Given the description of an element on the screen output the (x, y) to click on. 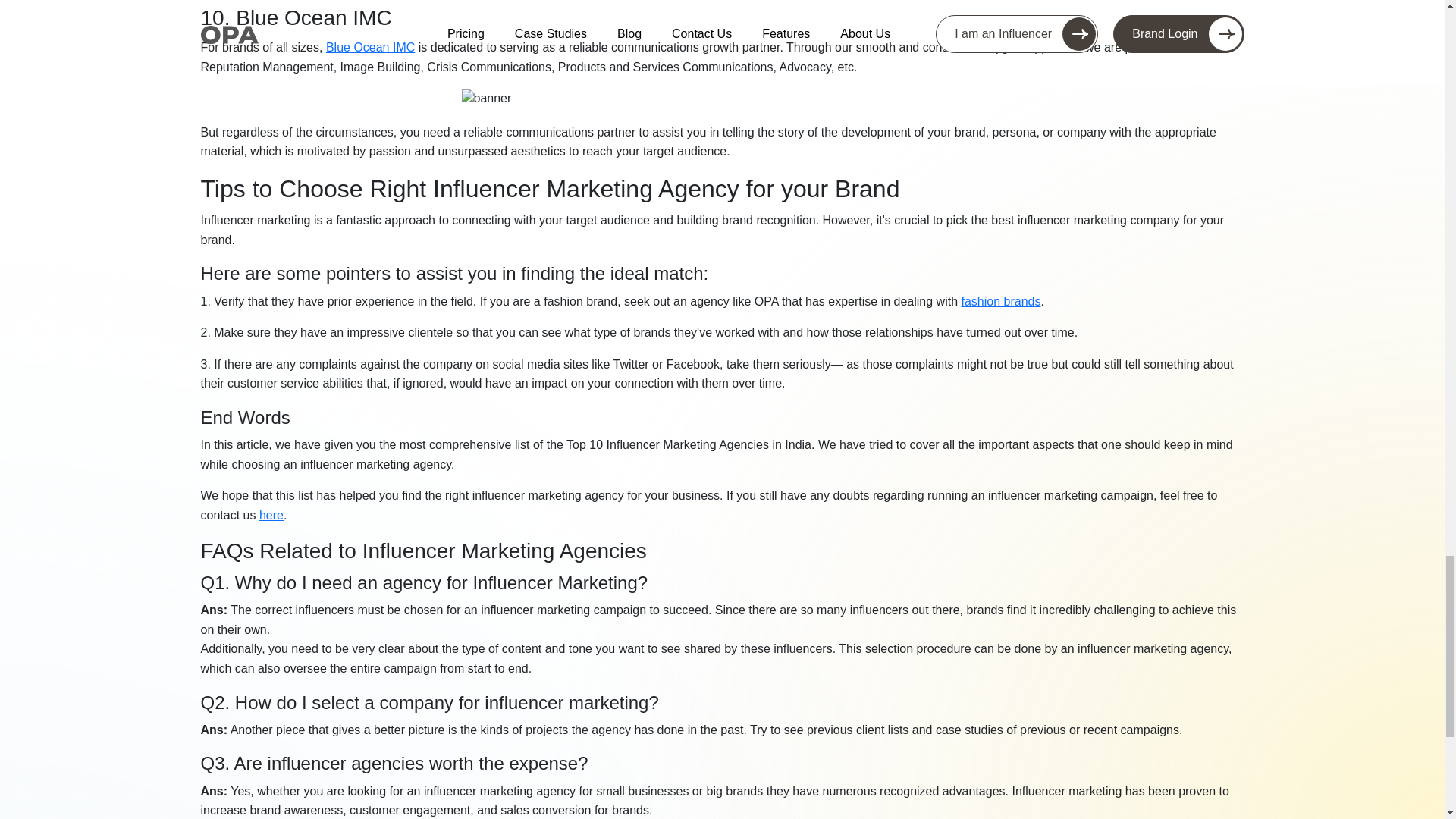
Blue Ocean IMC (370, 47)
here (271, 514)
fashion brands (1000, 300)
